Given the description of an element on the screen output the (x, y) to click on. 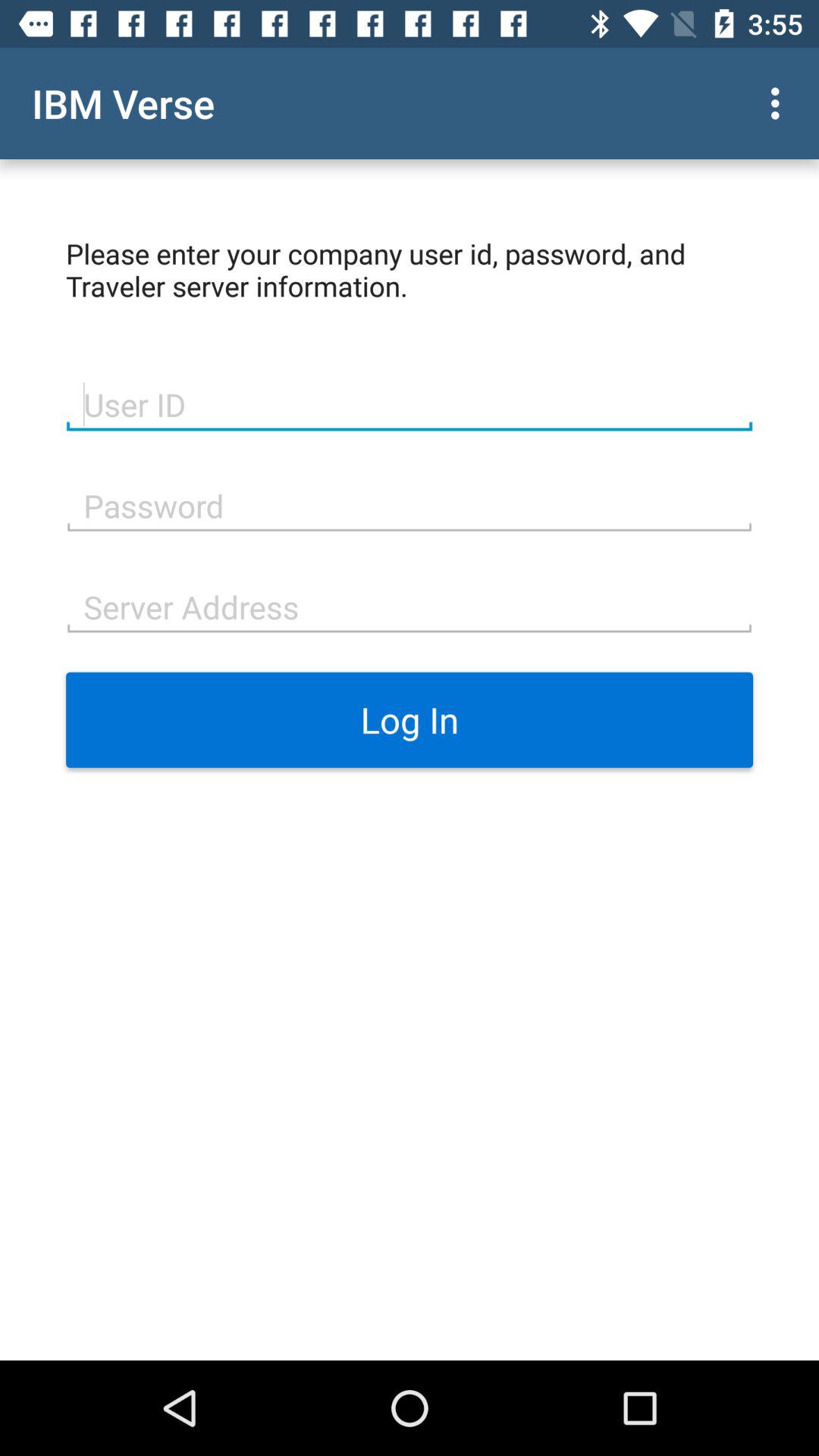
launch icon above log in icon (409, 605)
